Given the description of an element on the screen output the (x, y) to click on. 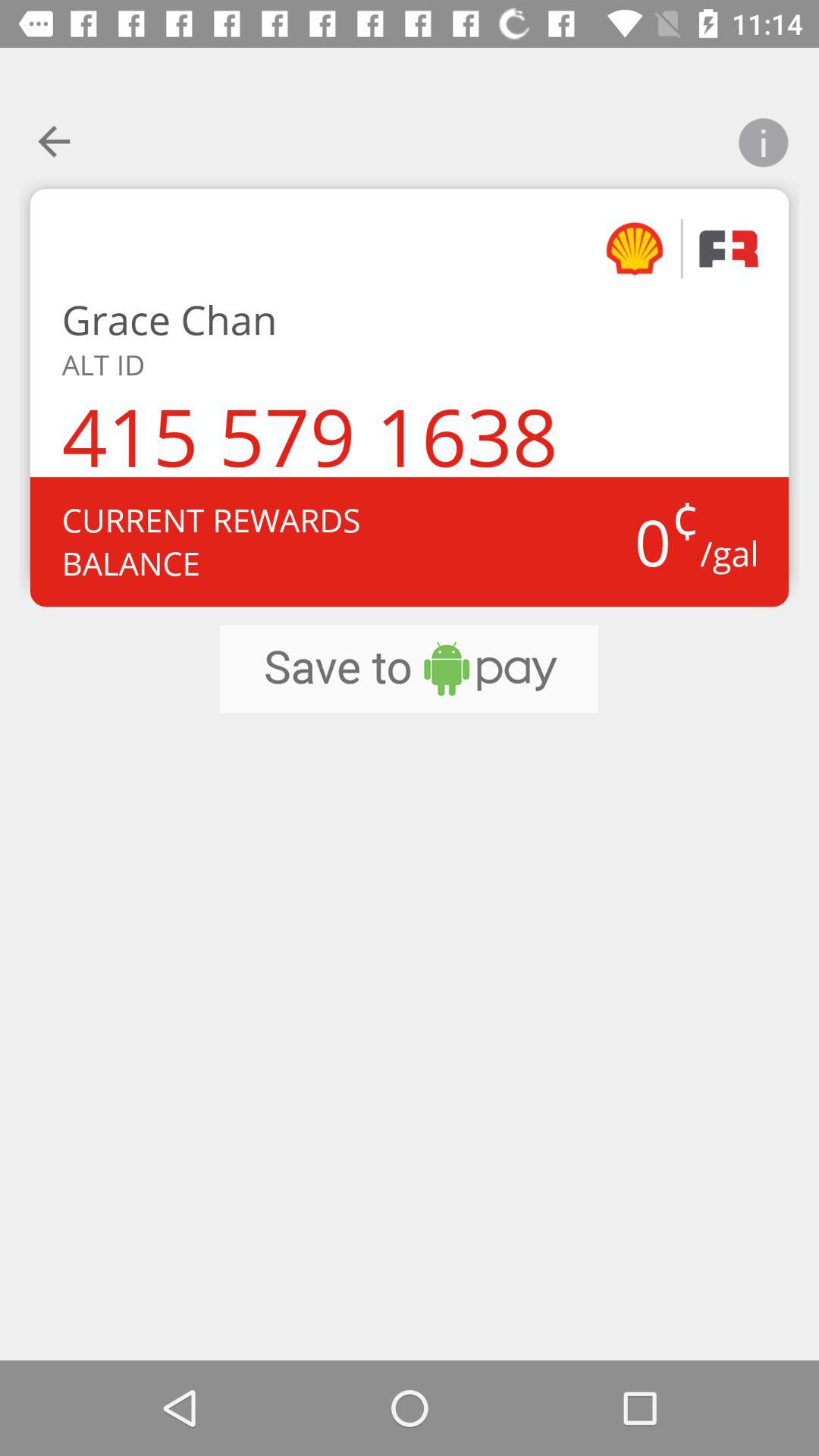
open the icon below current rewards
balance icon (409, 668)
